Given the description of an element on the screen output the (x, y) to click on. 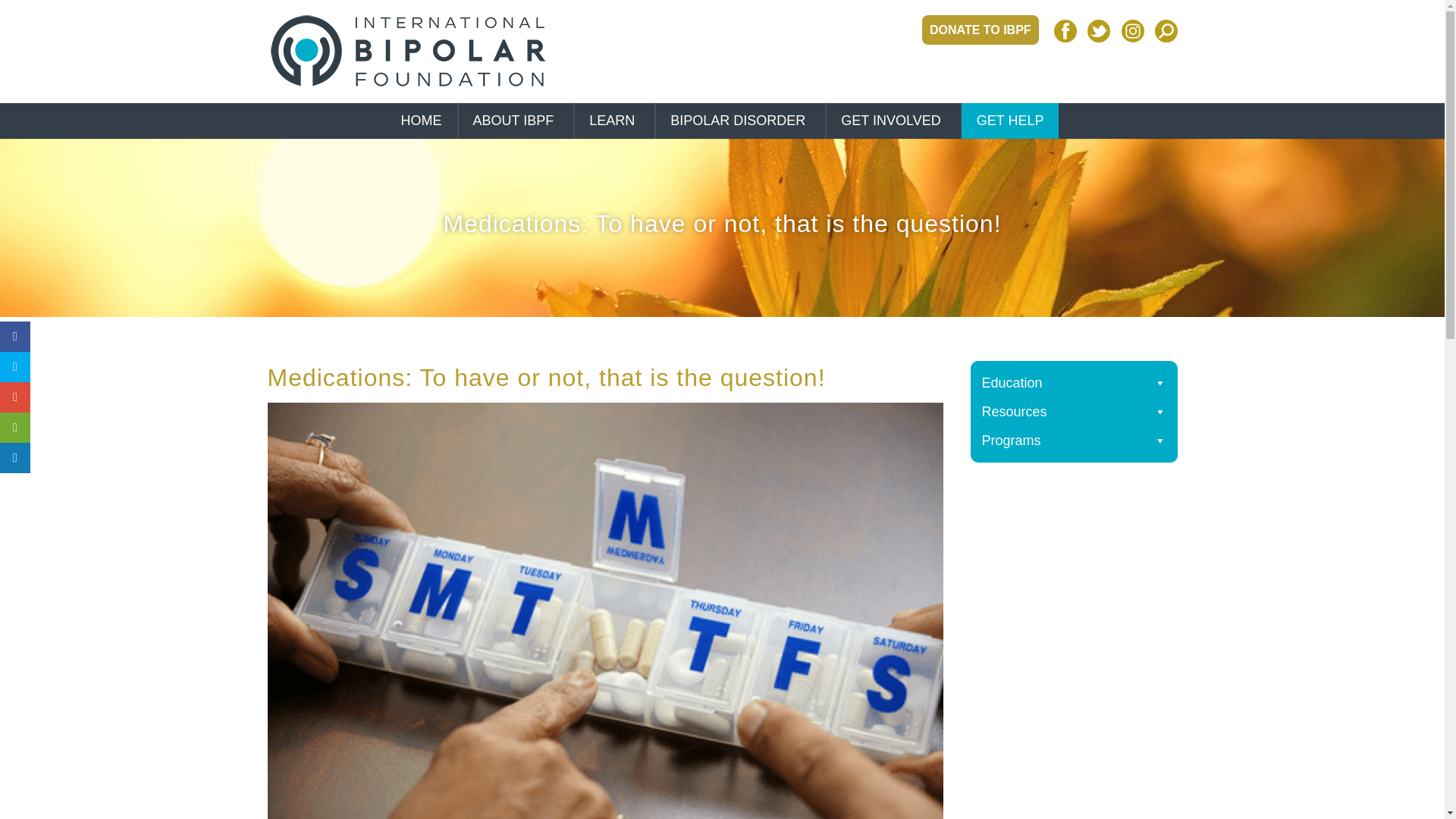
HOME (421, 120)
DONATE TO IBPF (980, 30)
BIPOLAR DISORDER (740, 120)
ABOUT IBPF (515, 120)
LEARN (613, 120)
Search (44, 15)
